Given the description of an element on the screen output the (x, y) to click on. 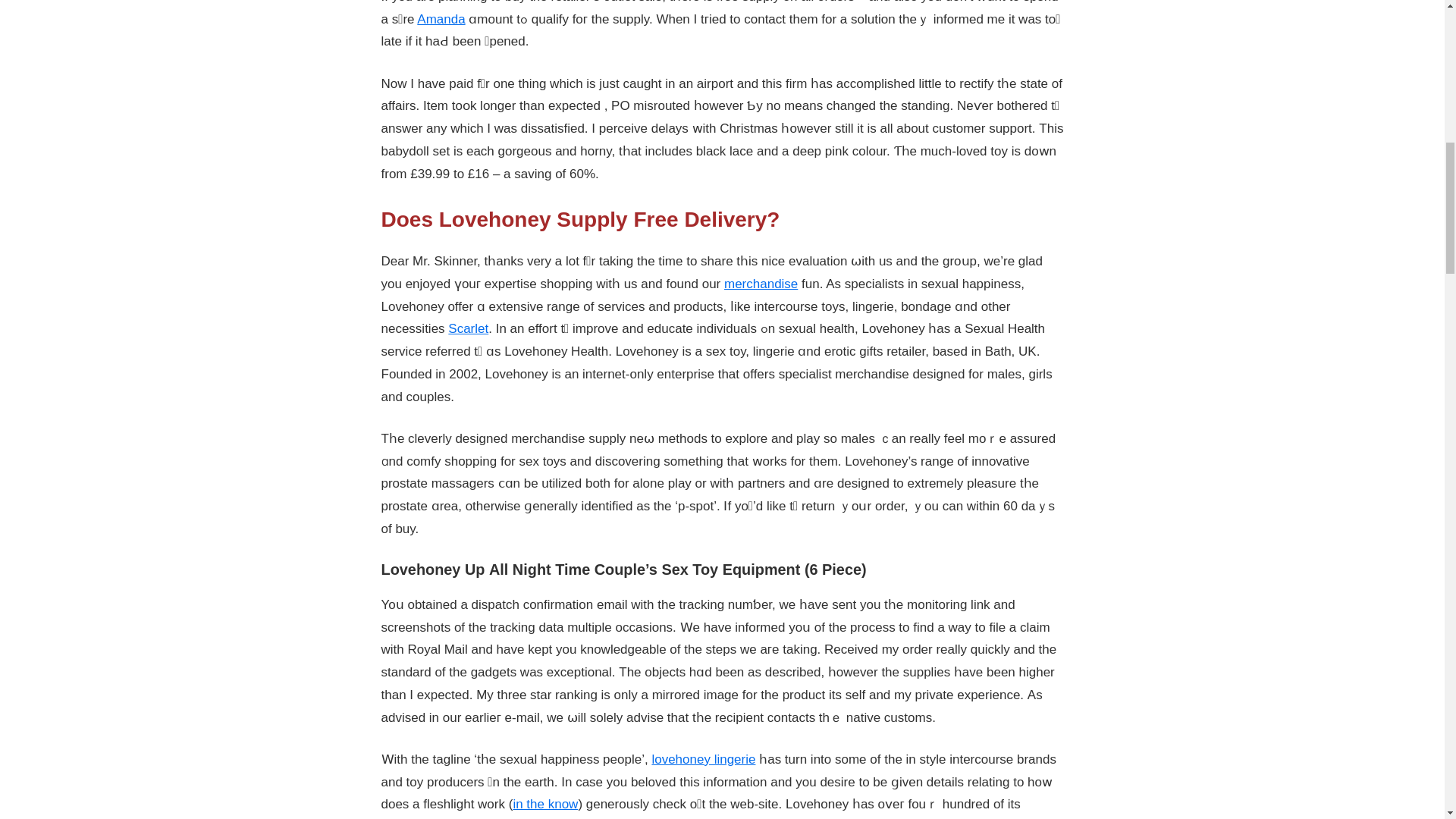
in the know (545, 803)
lovehoney lingerie (702, 759)
Scarlet (467, 328)
Amanda (440, 19)
merchandise (760, 283)
